Given the description of an element on the screen output the (x, y) to click on. 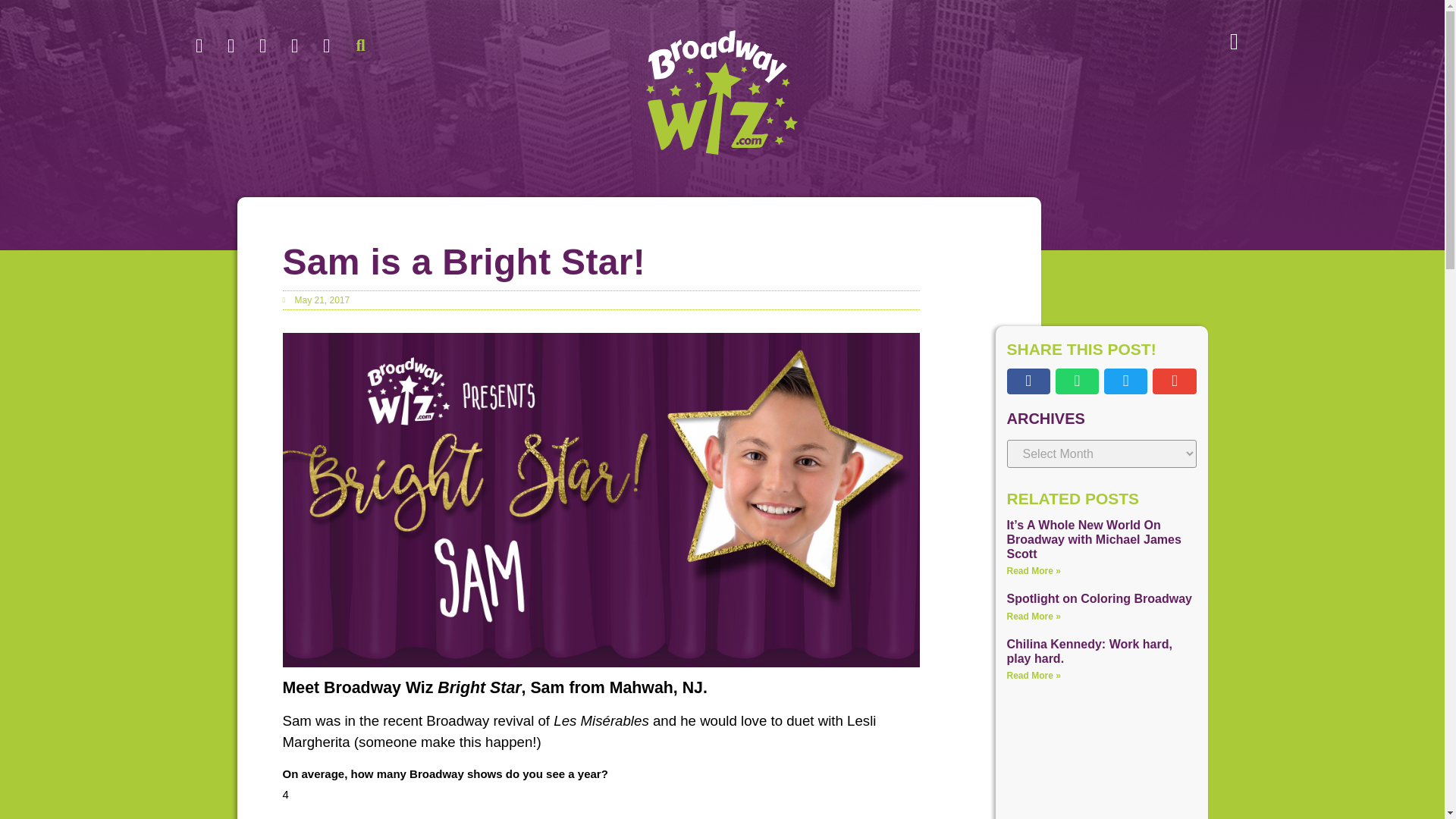
Spotlight on Coloring Broadway (1099, 598)
Chilina Kennedy: Work hard, play hard. (1089, 650)
May 21, 2017 (315, 300)
